Given the description of an element on the screen output the (x, y) to click on. 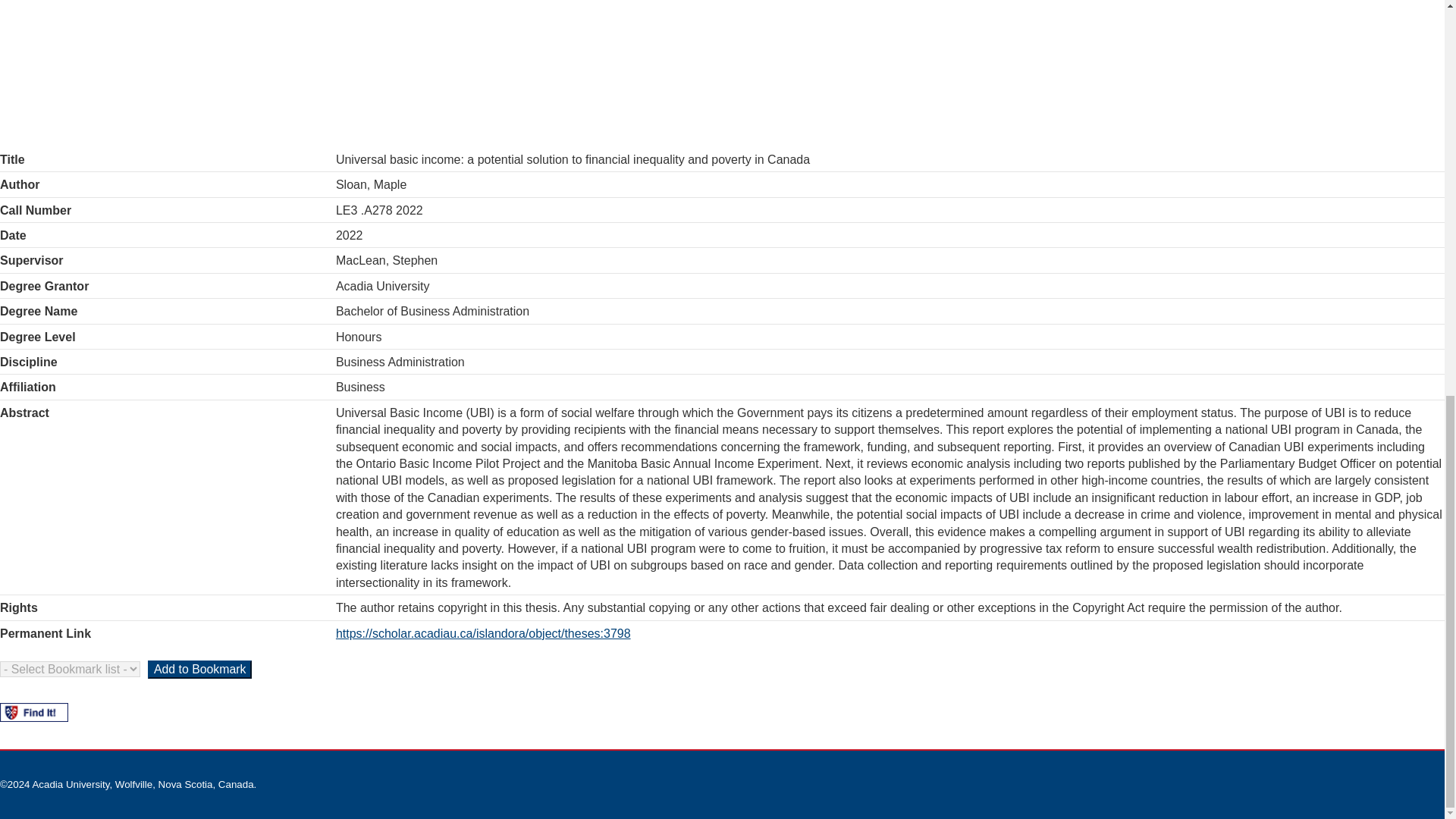
Add to Bookmark (199, 669)
Check the Acadia Library catalog (34, 711)
